Given the description of an element on the screen output the (x, y) to click on. 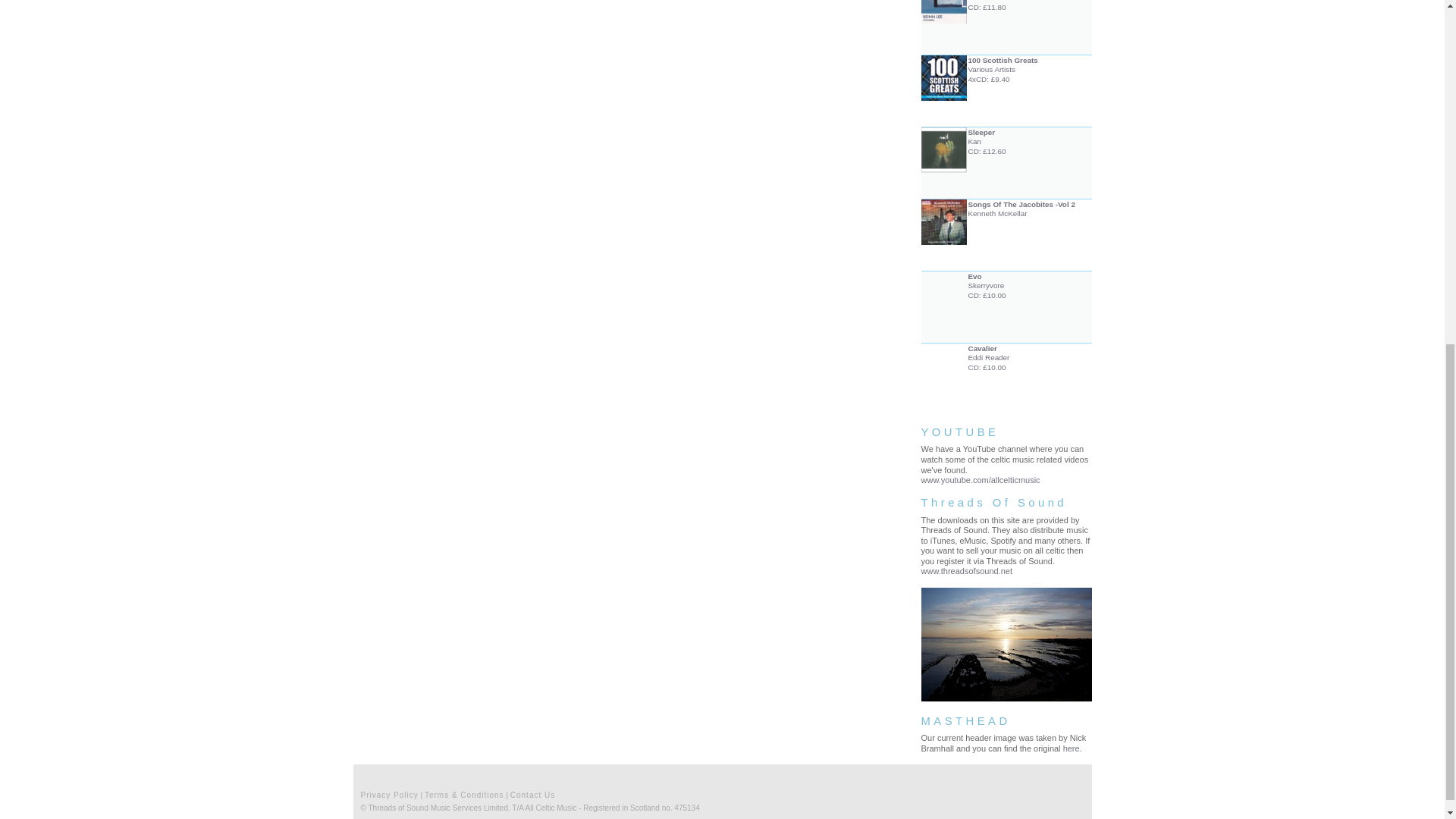
www.threadsofsound.net (965, 570)
Privacy Policy (390, 795)
here (1071, 747)
Contact Us (1005, 228)
